Given the description of an element on the screen output the (x, y) to click on. 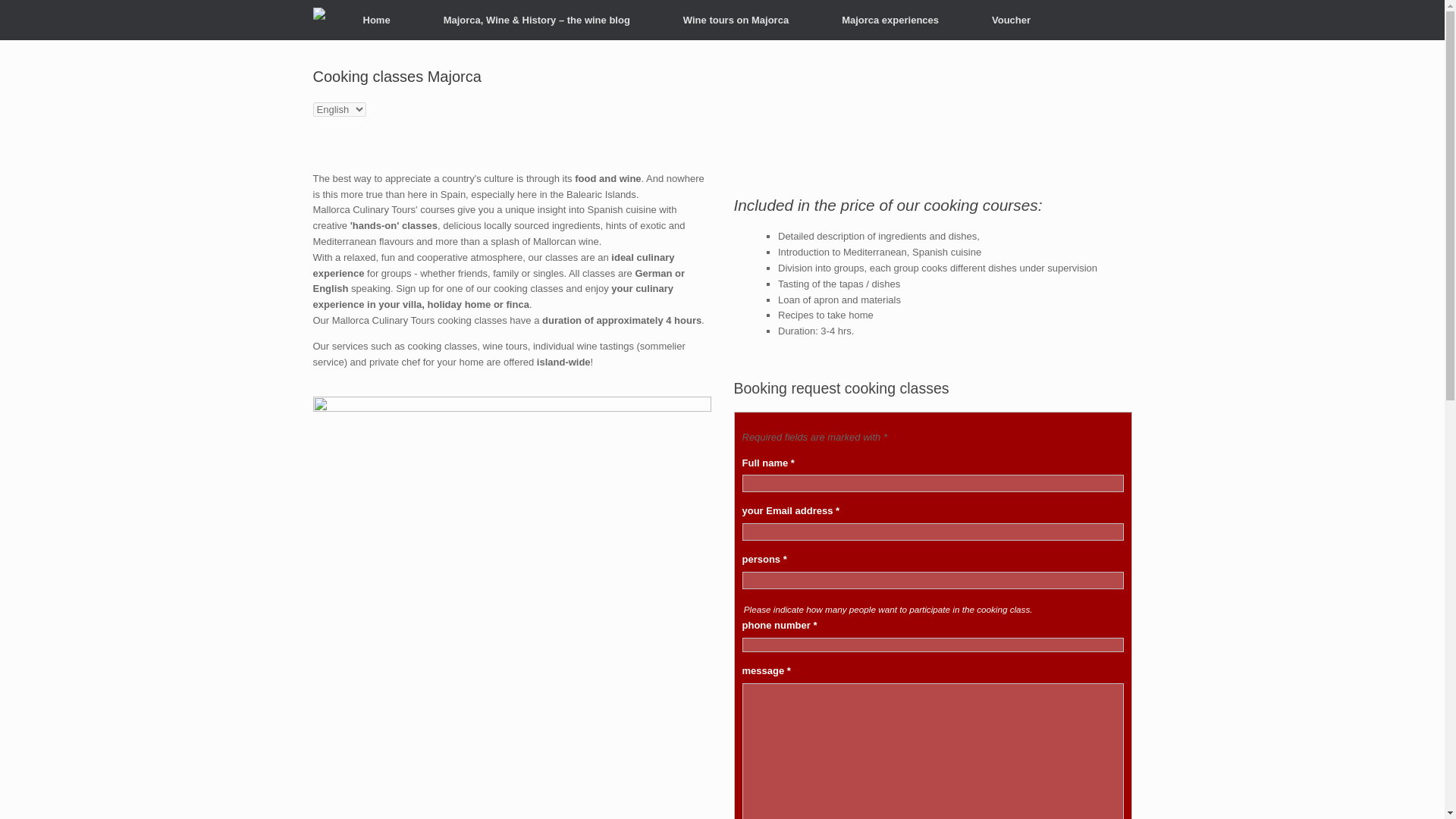
Voucher (1011, 20)
Wine tours on Majorca (735, 20)
Home (376, 20)
Majorca experiences (890, 20)
